Given the description of an element on the screen output the (x, y) to click on. 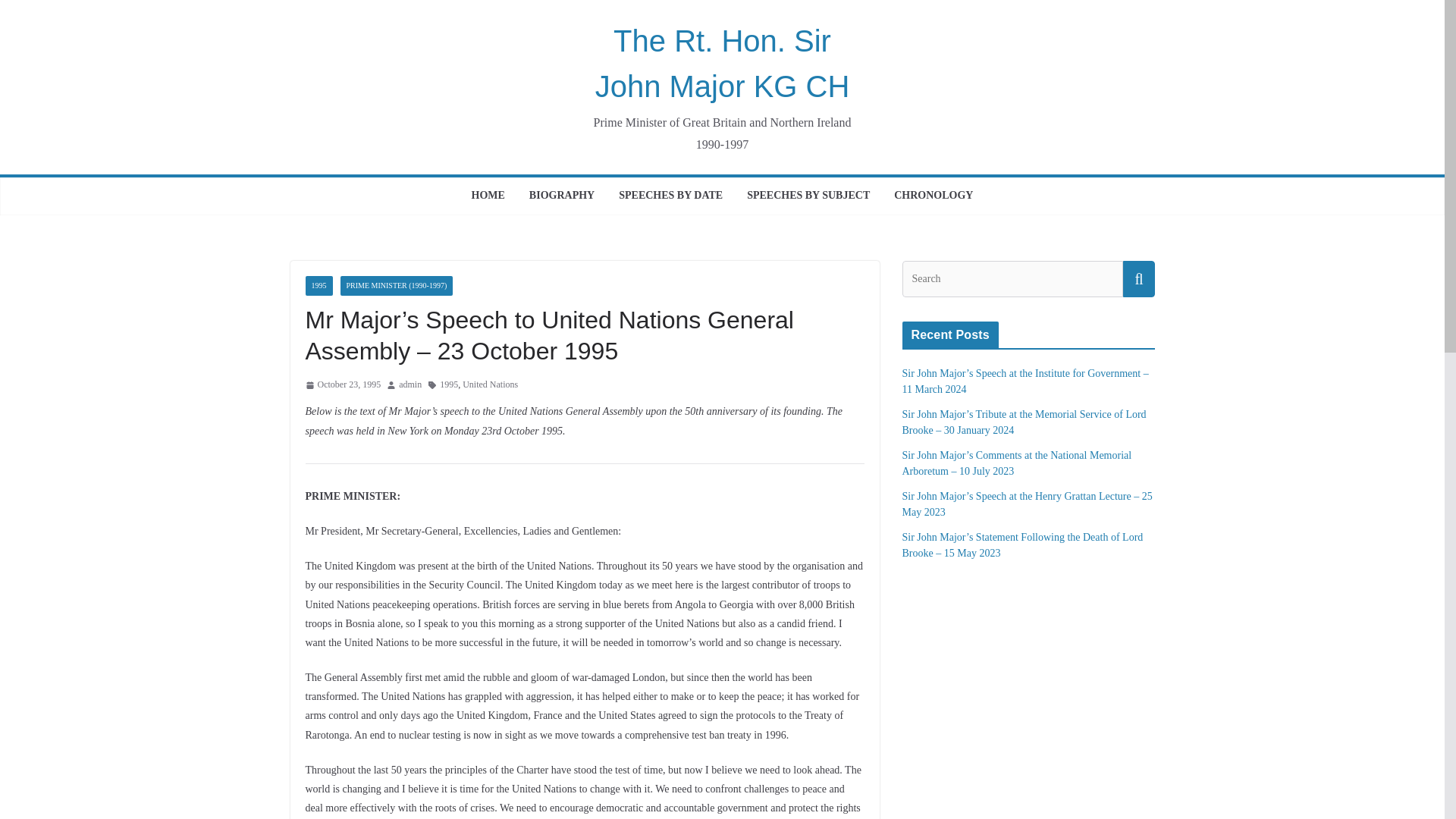
The Rt. Hon. Sir John Major KG CH (722, 63)
BIOGRAPHY (561, 196)
October 23, 1995 (342, 384)
1995 (448, 384)
admin (410, 384)
1995 (317, 285)
United Nations (490, 384)
admin (410, 384)
SPEECHES BY SUBJECT (807, 196)
8:00 am (342, 384)
